Given the description of an element on the screen output the (x, y) to click on. 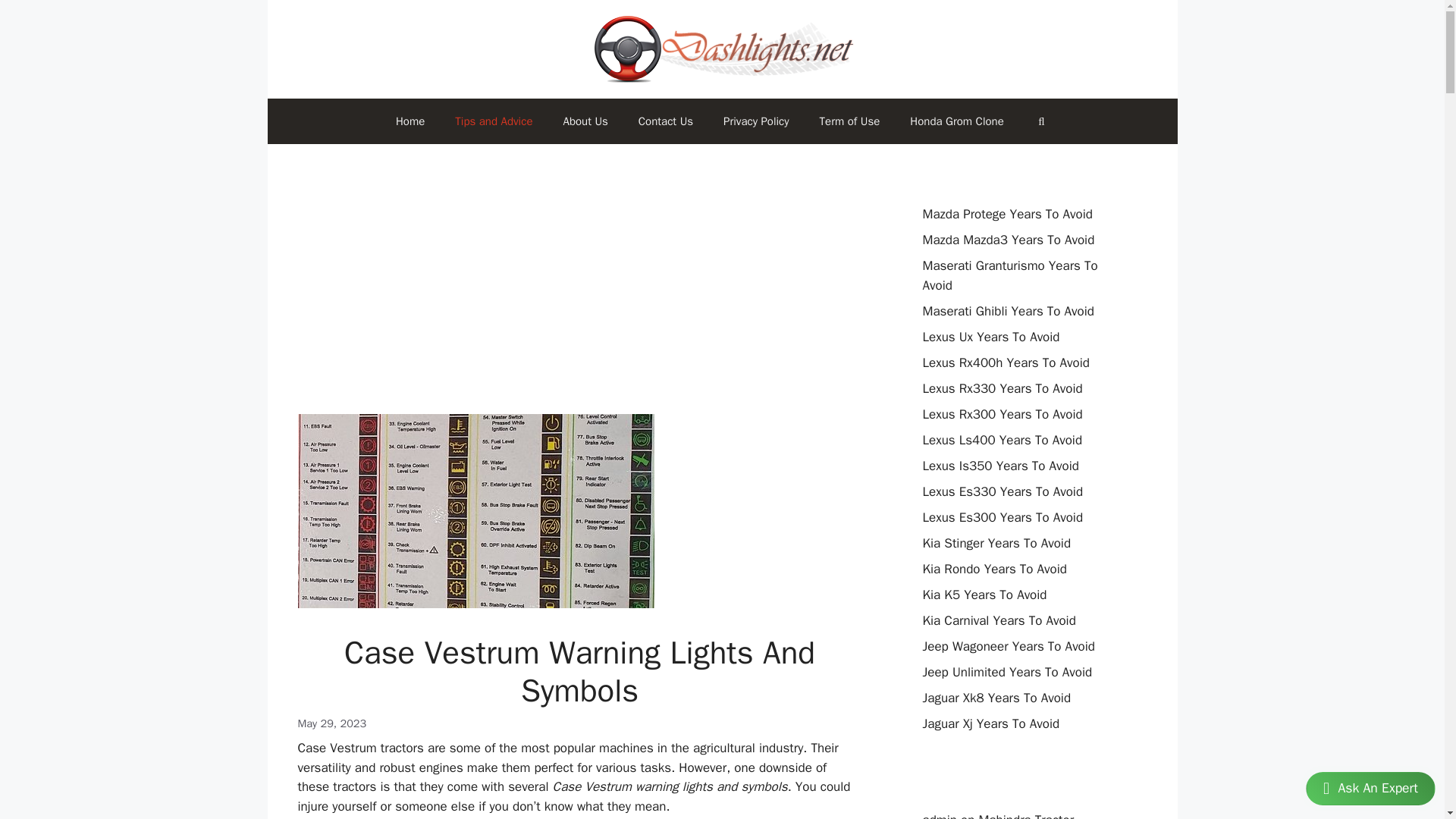
Honda Grom Clone (956, 121)
Privacy Policy (756, 121)
About Us (585, 121)
Ask An Expert (1367, 788)
Maserati Granturismo Years To Avoid (1009, 275)
Mazda Mazda3 Years To Avoid (1007, 239)
Home (409, 121)
Case Vestrum Warning Lights And Symbols 1 (475, 511)
Term of Use (850, 121)
Contact Us (665, 121)
Tips and Advice (493, 121)
Mazda Protege Years To Avoid (1006, 213)
